Given the description of an element on the screen output the (x, y) to click on. 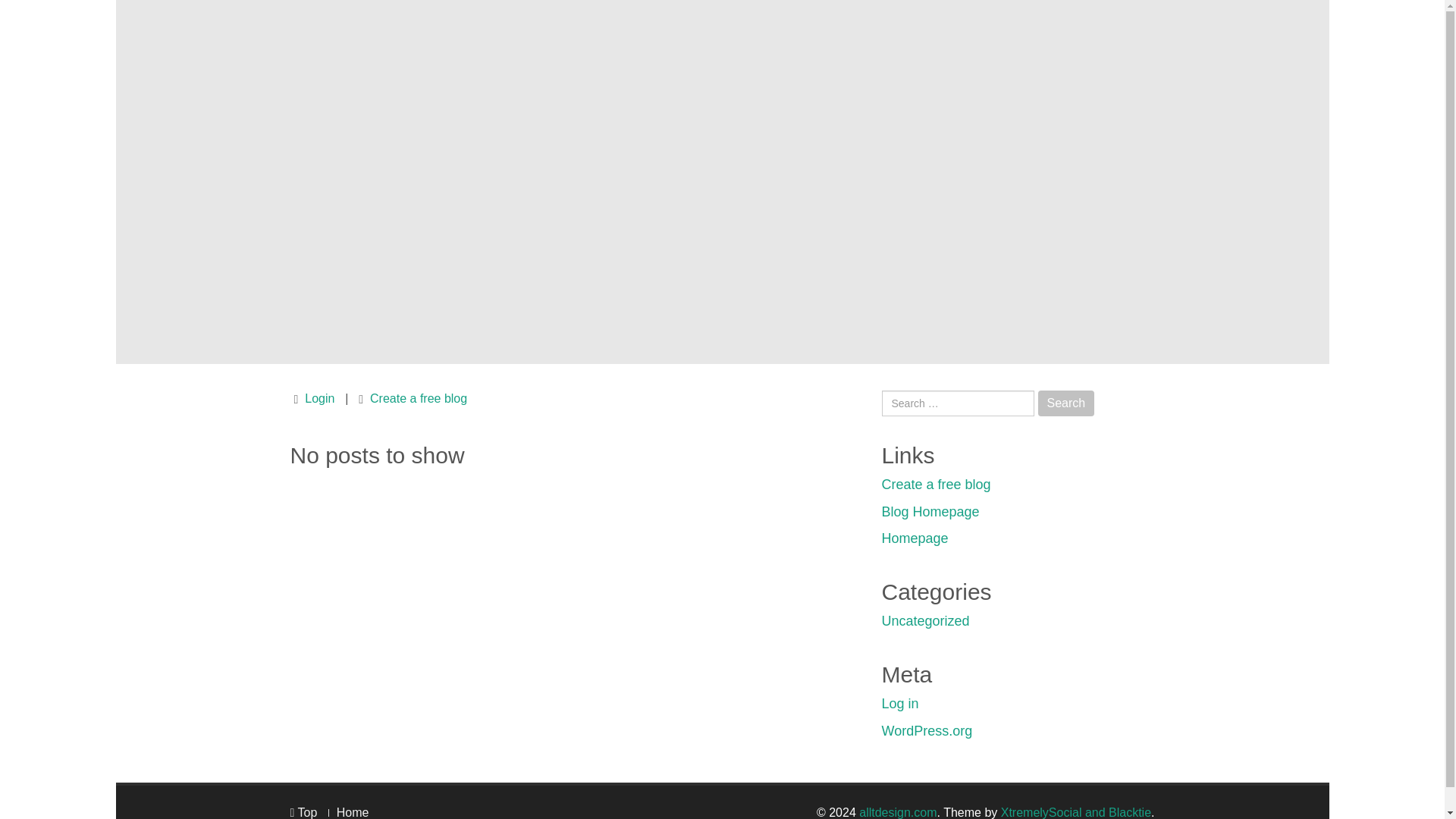
Home (352, 812)
WordPress.org (926, 730)
Search (1066, 403)
Home (352, 812)
Uncategorized (924, 620)
Top (303, 812)
Create a free blog (418, 398)
XtremelySocial and Blacktie (1076, 812)
alltdesign.com (897, 812)
Homepage (913, 538)
